Given the description of an element on the screen output the (x, y) to click on. 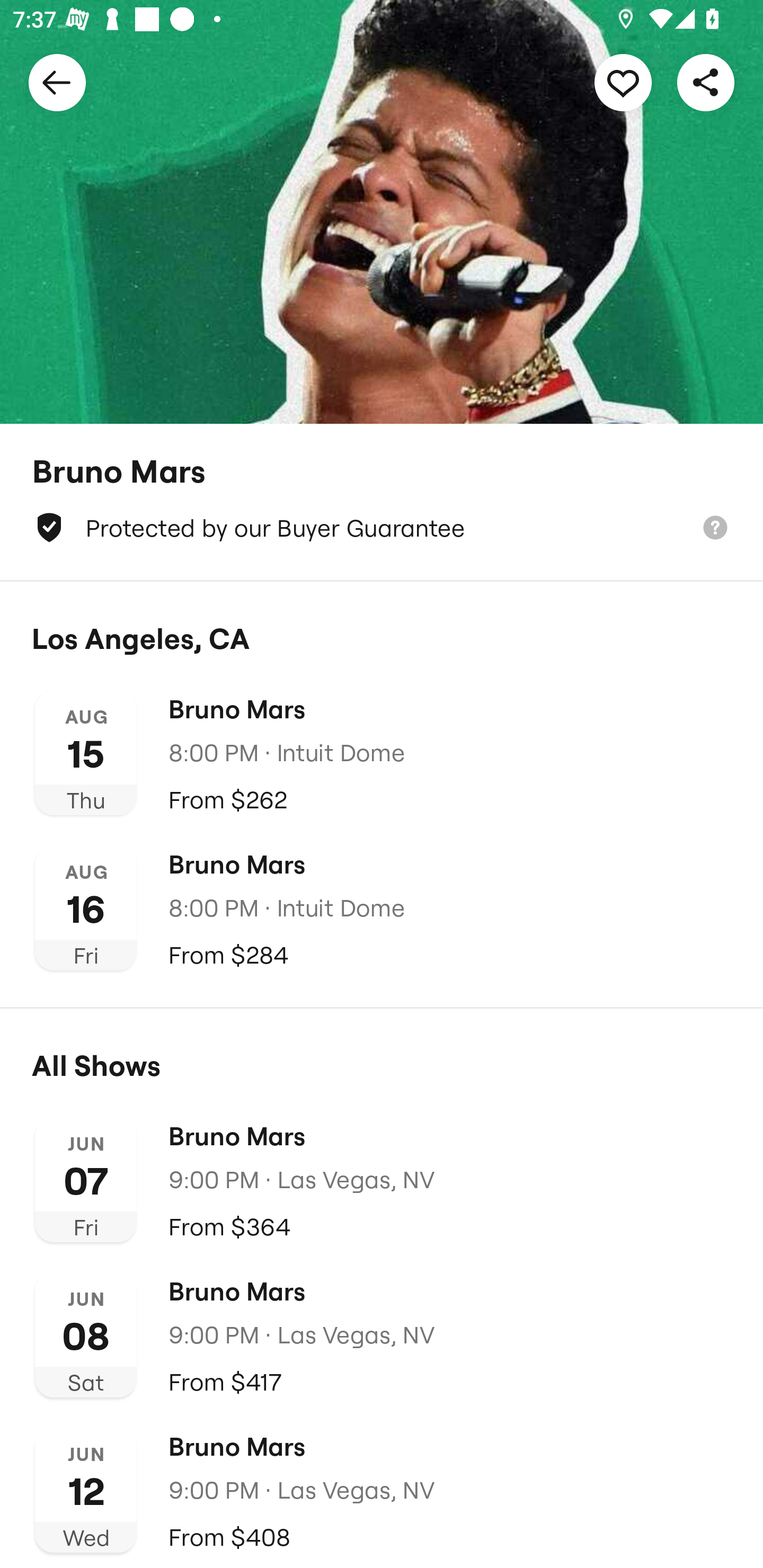
Back (57, 81)
Track this performer (623, 81)
Share this performer (705, 81)
Protected by our Buyer Guarantee Learn more (381, 527)
